Given the description of an element on the screen output the (x, y) to click on. 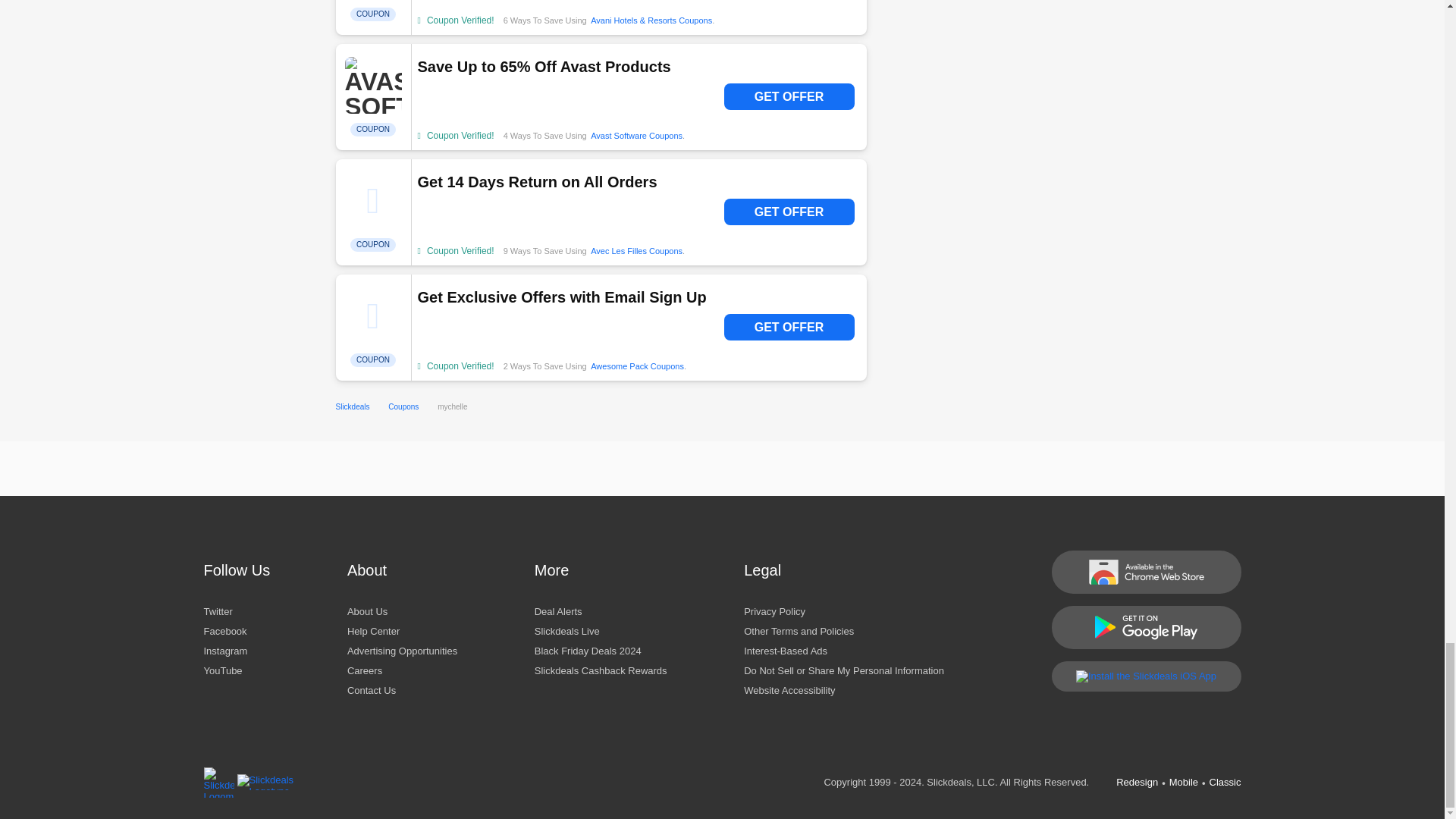
Install the Slickdeals Extension (1145, 570)
Install the Slickdeals Android App (1145, 627)
Install the Slickdeals iOS App (1145, 675)
